Given the description of an element on the screen output the (x, y) to click on. 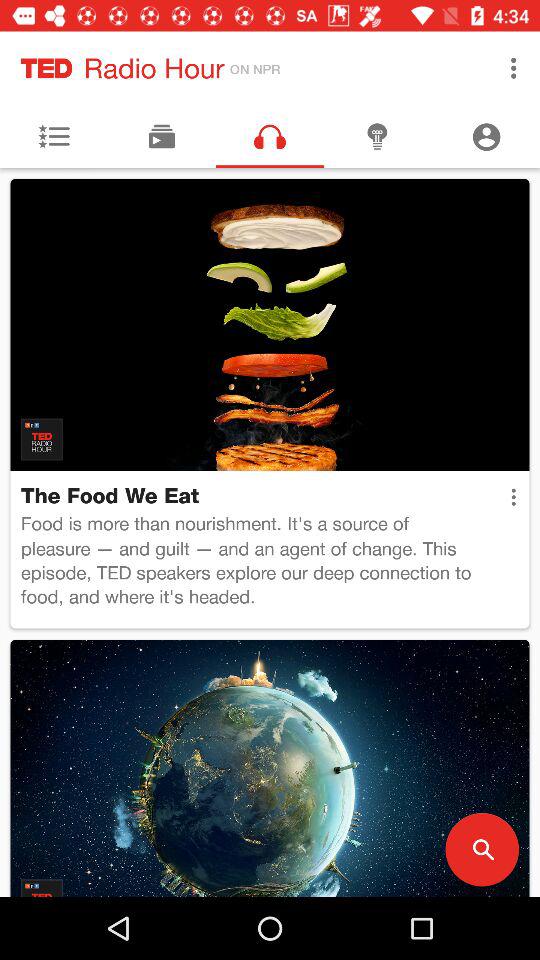
select icon to the right of the on npr icon (513, 67)
